Given the description of an element on the screen output the (x, y) to click on. 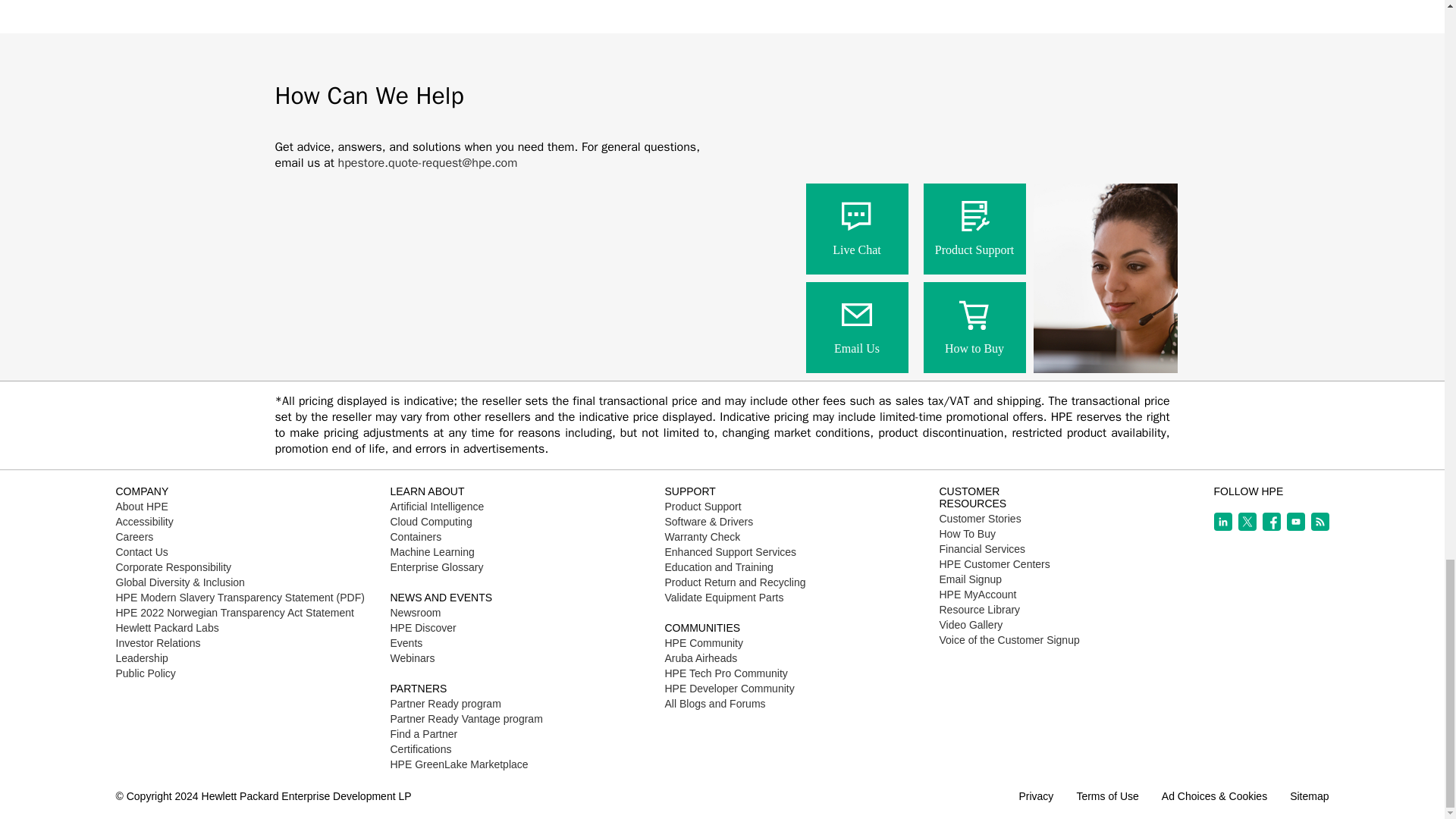
X - new window (1246, 521)
YouTube - new window (1294, 521)
LinkedIn - new window (1221, 521)
Facebook - new window (1270, 521)
